Given the description of an element on the screen output the (x, y) to click on. 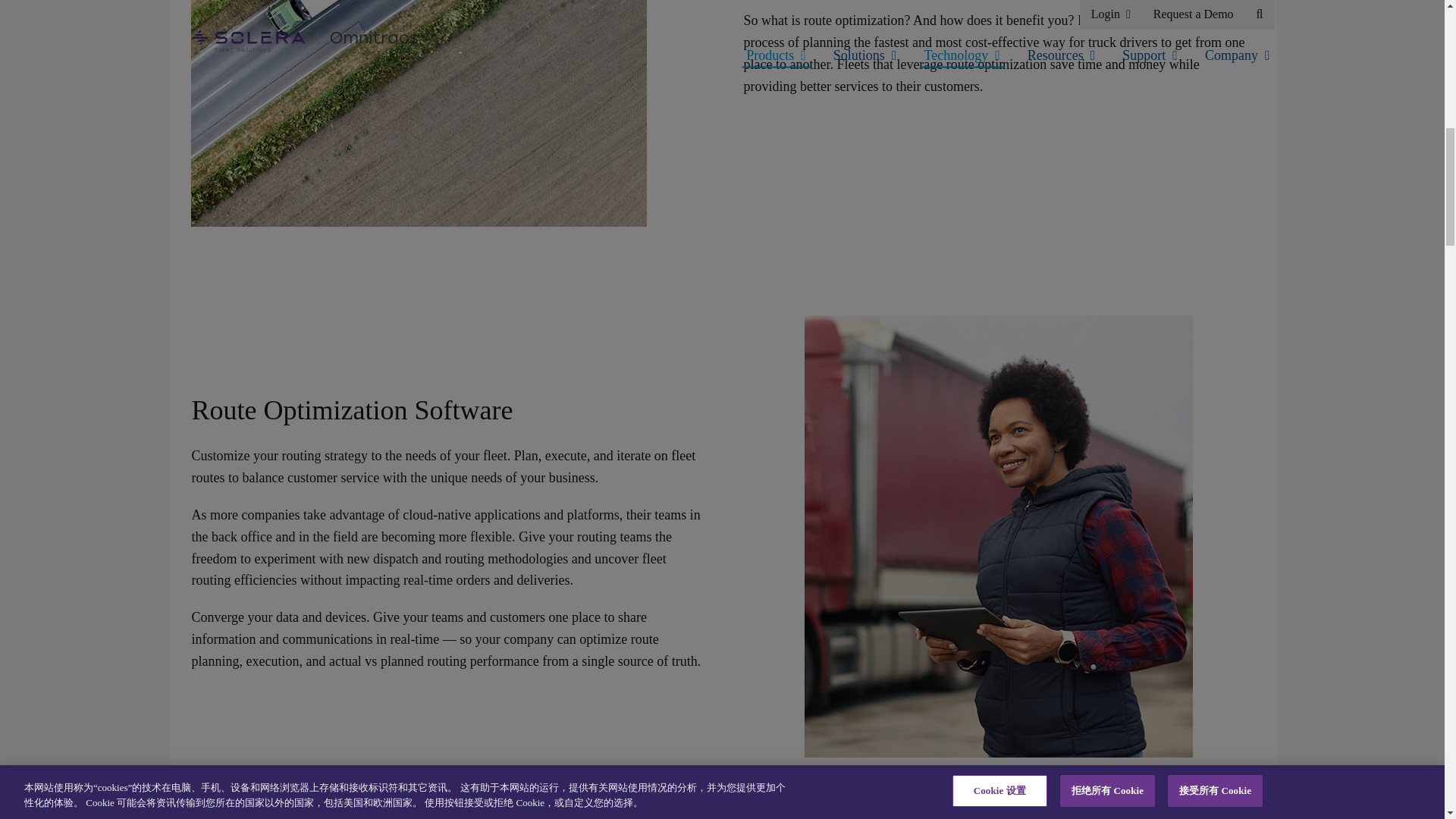
what-is-route-optimization (418, 113)
